Given the description of an element on the screen output the (x, y) to click on. 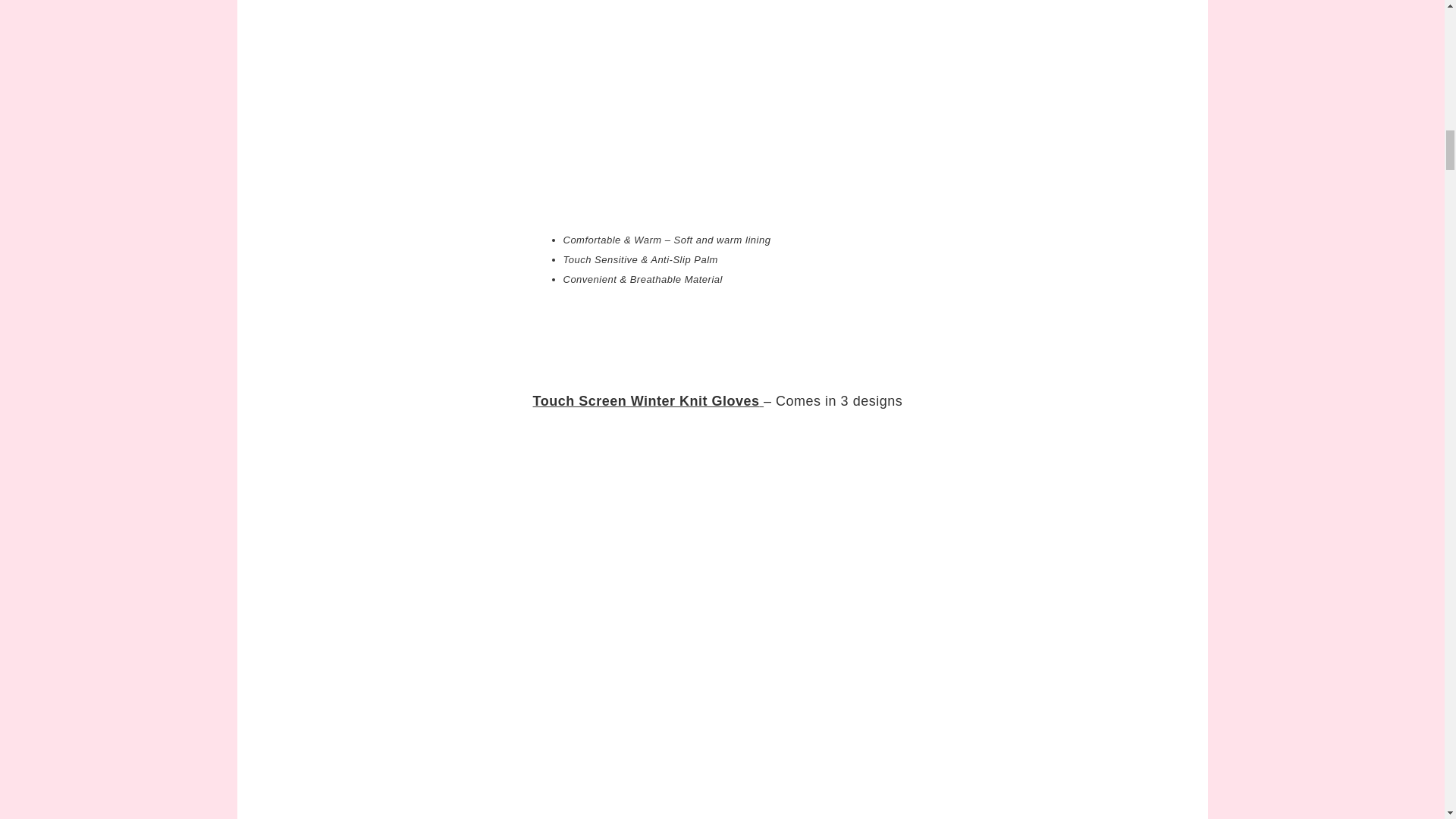
Touch Screen Winter Knit Gloves (645, 400)
